Given the description of an element on the screen output the (x, y) to click on. 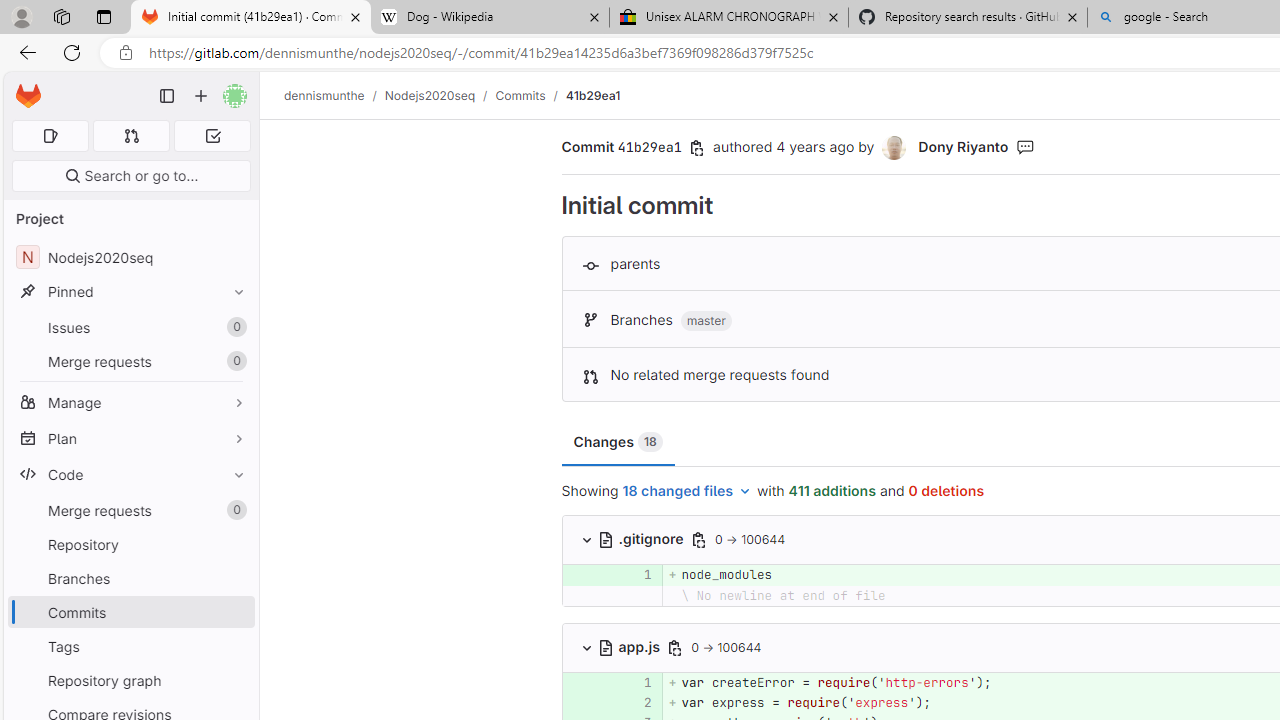
Nodejs2020seq (430, 95)
Branches (130, 578)
Nodejs2020seq/ (440, 95)
1 (637, 681)
.gitignore  (642, 538)
Dony Riyanto (962, 146)
Class: s16 (605, 647)
Add a comment to this line (562, 701)
Commits/ (530, 95)
Branches (130, 578)
Issues0 (130, 327)
NNodejs2020seq (130, 257)
Unpin Merge requests (234, 510)
